Given the description of an element on the screen output the (x, y) to click on. 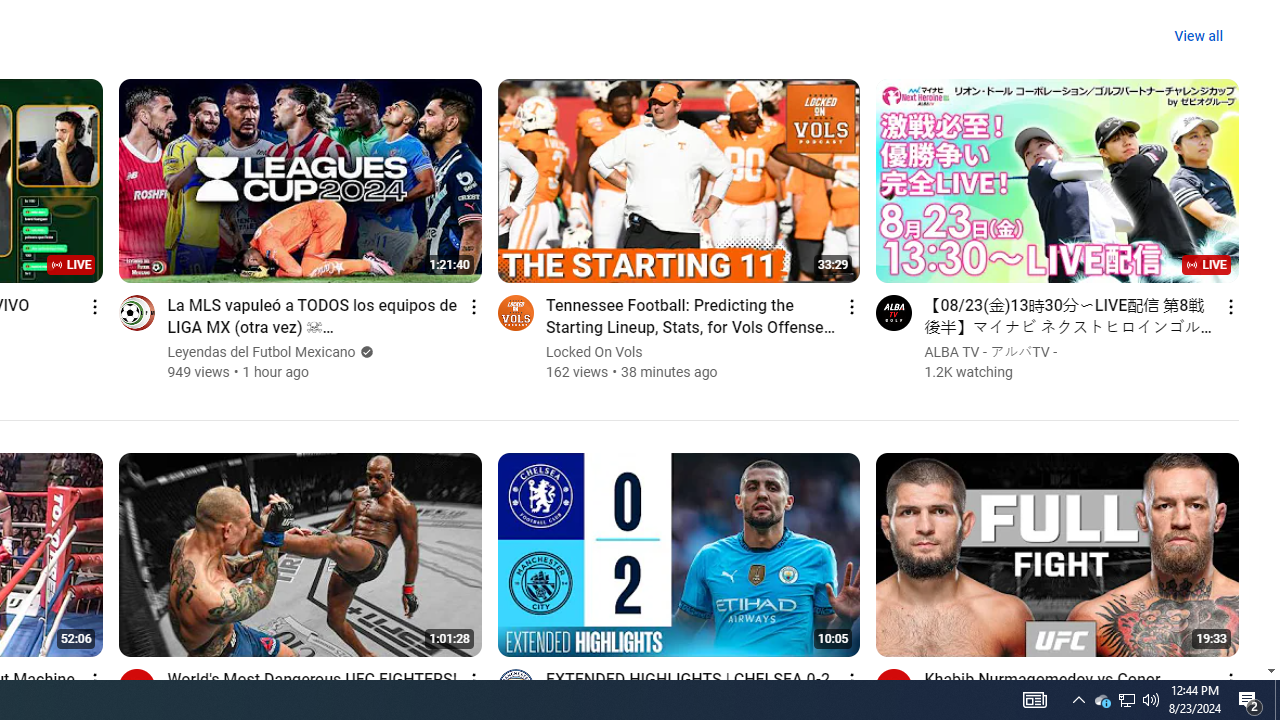
Locked On Vols (594, 352)
Leyendas del Futbol Mexicano (261, 352)
View all (1198, 36)
Go to channel (893, 686)
Action menu (1229, 680)
Verified (363, 352)
